Given the description of an element on the screen output the (x, y) to click on. 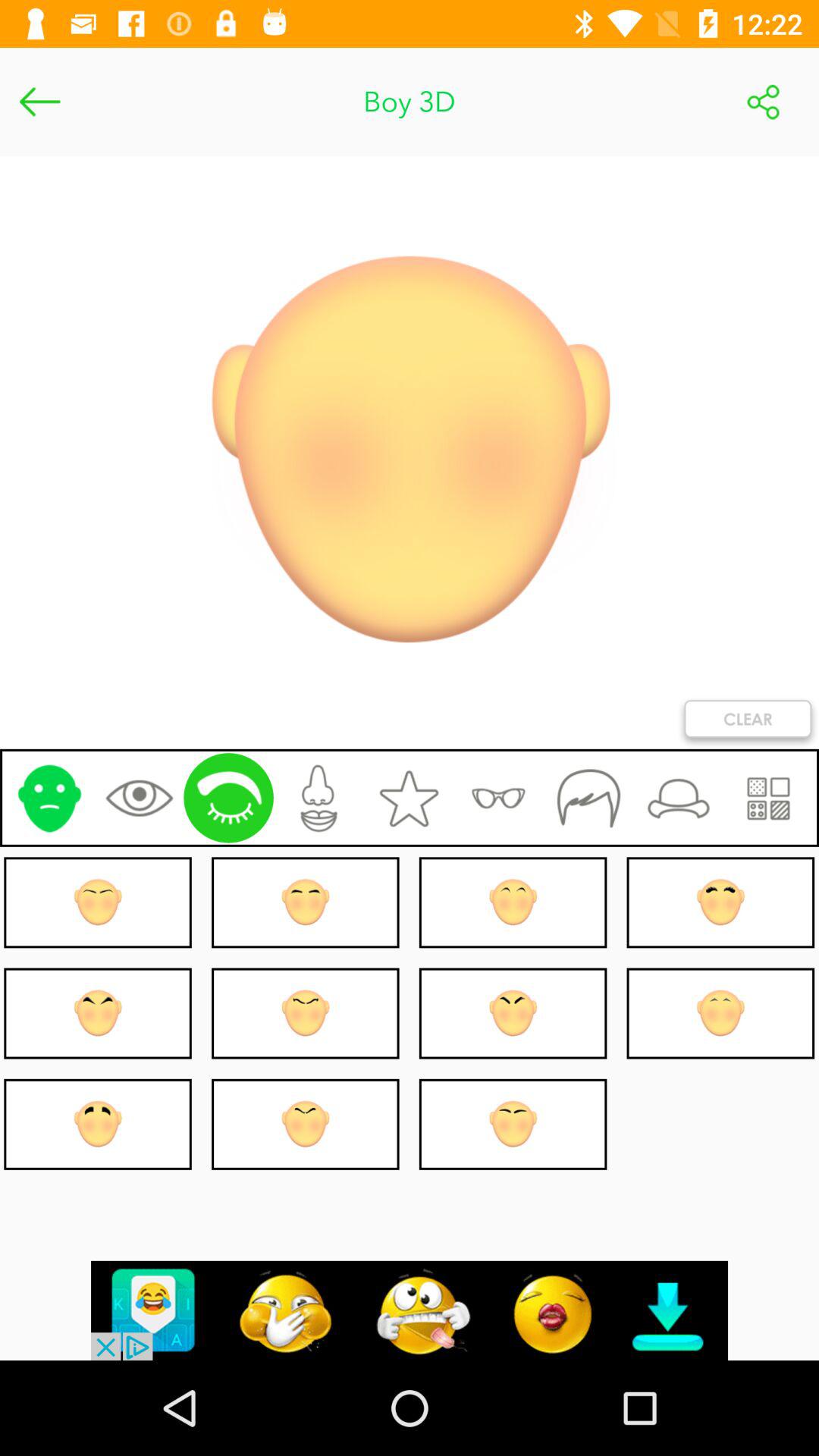
share image (763, 101)
